Given the description of an element on the screen output the (x, y) to click on. 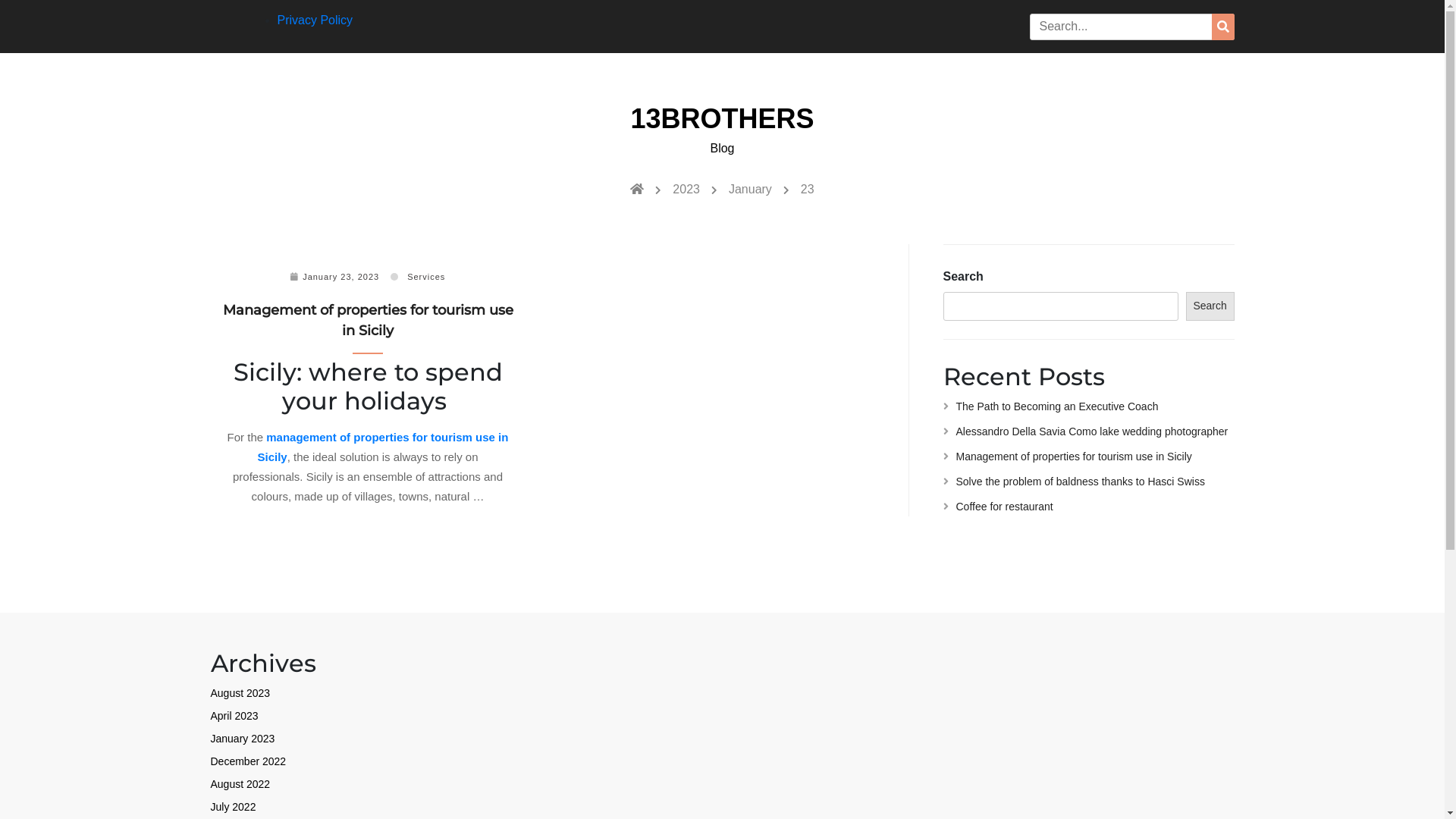
Management of properties for tourism use in Sicily Element type: text (1067, 456)
January 23, 2023 Element type: text (340, 276)
Privacy Policy Element type: text (315, 19)
management of properties for tourism use in Sicily Element type: text (382, 446)
The Path to Becoming an Executive Coach Element type: text (1050, 406)
13BROTHERS Element type: text (721, 118)
January 2023 Element type: text (242, 738)
January Element type: text (749, 188)
Alessandro Della Savia Como lake wedding photographer Element type: text (1085, 431)
April 2023 Element type: text (234, 715)
Solve the problem of baldness thanks to Hasci Swiss Element type: text (1073, 481)
2023 Element type: text (685, 188)
December 2022 Element type: text (248, 761)
August 2023 Element type: text (240, 693)
July 2022 Element type: text (233, 806)
August 2022 Element type: text (240, 784)
Services Element type: text (426, 276)
Search Element type: text (1210, 305)
Circular focus Element type: text (1443, 58)
Coffee for restaurant Element type: text (998, 506)
Search Element type: text (1222, 26)
Management of properties for tourism use in Sicily Element type: text (367, 319)
